Given the description of an element on the screen output the (x, y) to click on. 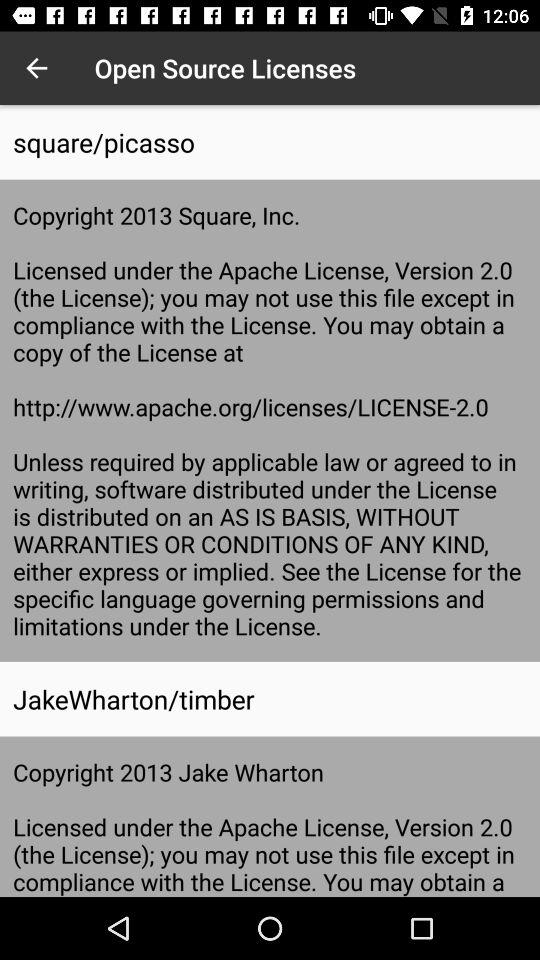
turn off icon to the left of the open source licenses (36, 68)
